Given the description of an element on the screen output the (x, y) to click on. 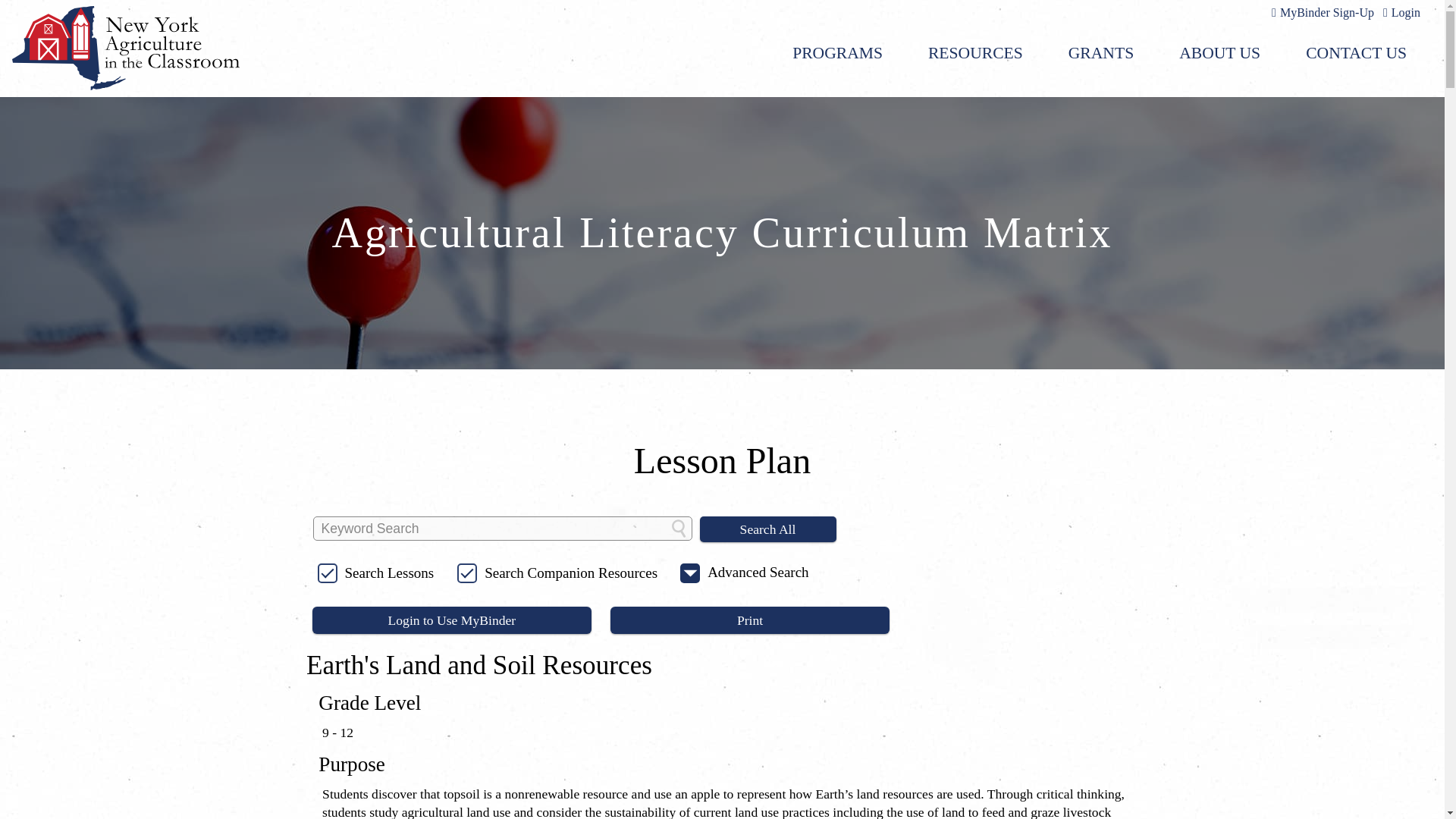
Search All (766, 529)
ABOUT US (1219, 53)
MyBinder Sign-Up (1319, 12)
GRANTS (1100, 53)
RESOURCES (975, 53)
PROGRAMS (837, 53)
New York Agriculture in the Classroom (125, 47)
Search All (766, 529)
Login (1399, 12)
